Given the description of an element on the screen output the (x, y) to click on. 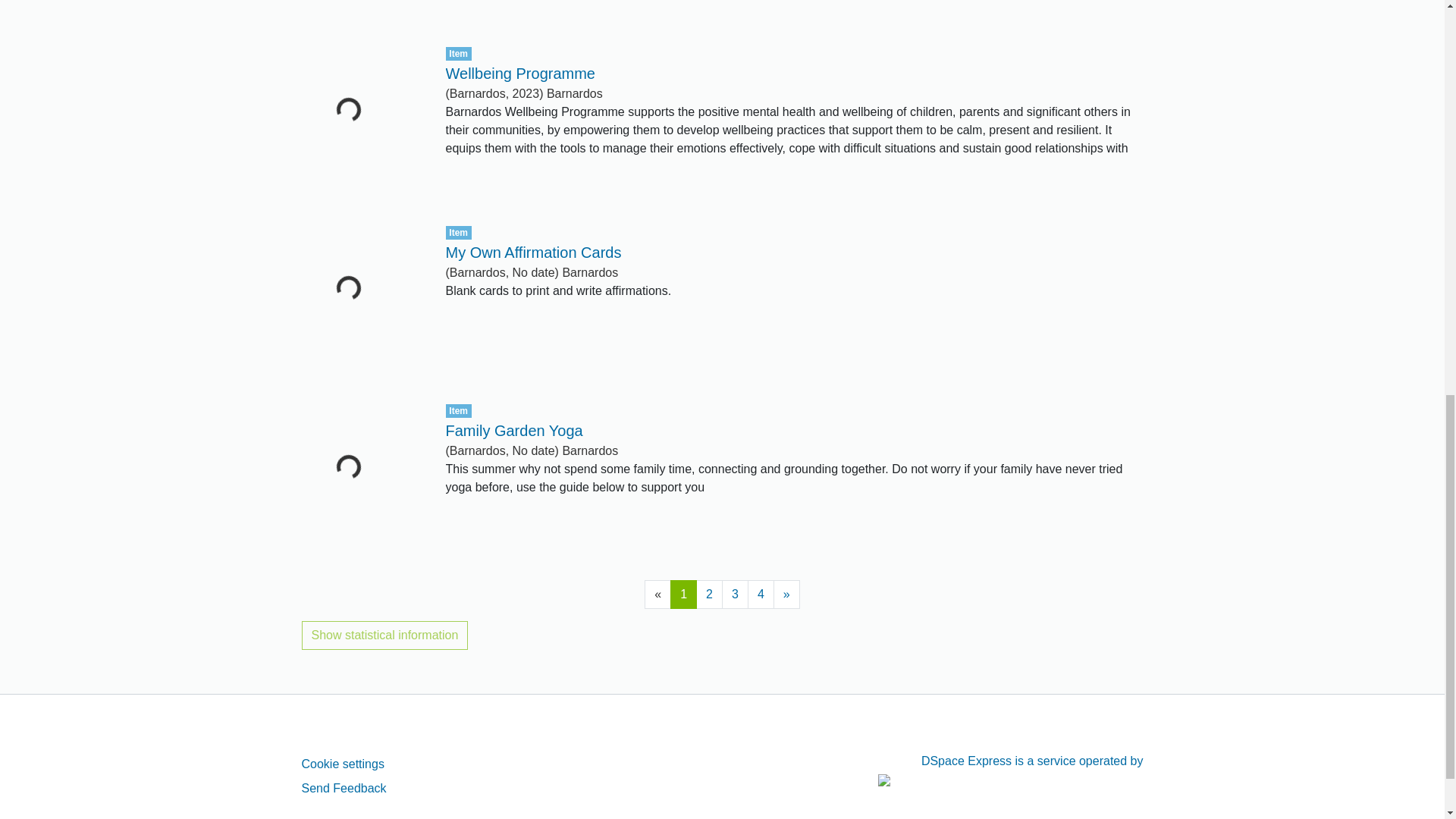
My Own Affirmation Cards (533, 252)
Loading... (362, 9)
Wellbeing Programme (520, 73)
Family Garden Yoga (514, 430)
